Given the description of an element on the screen output the (x, y) to click on. 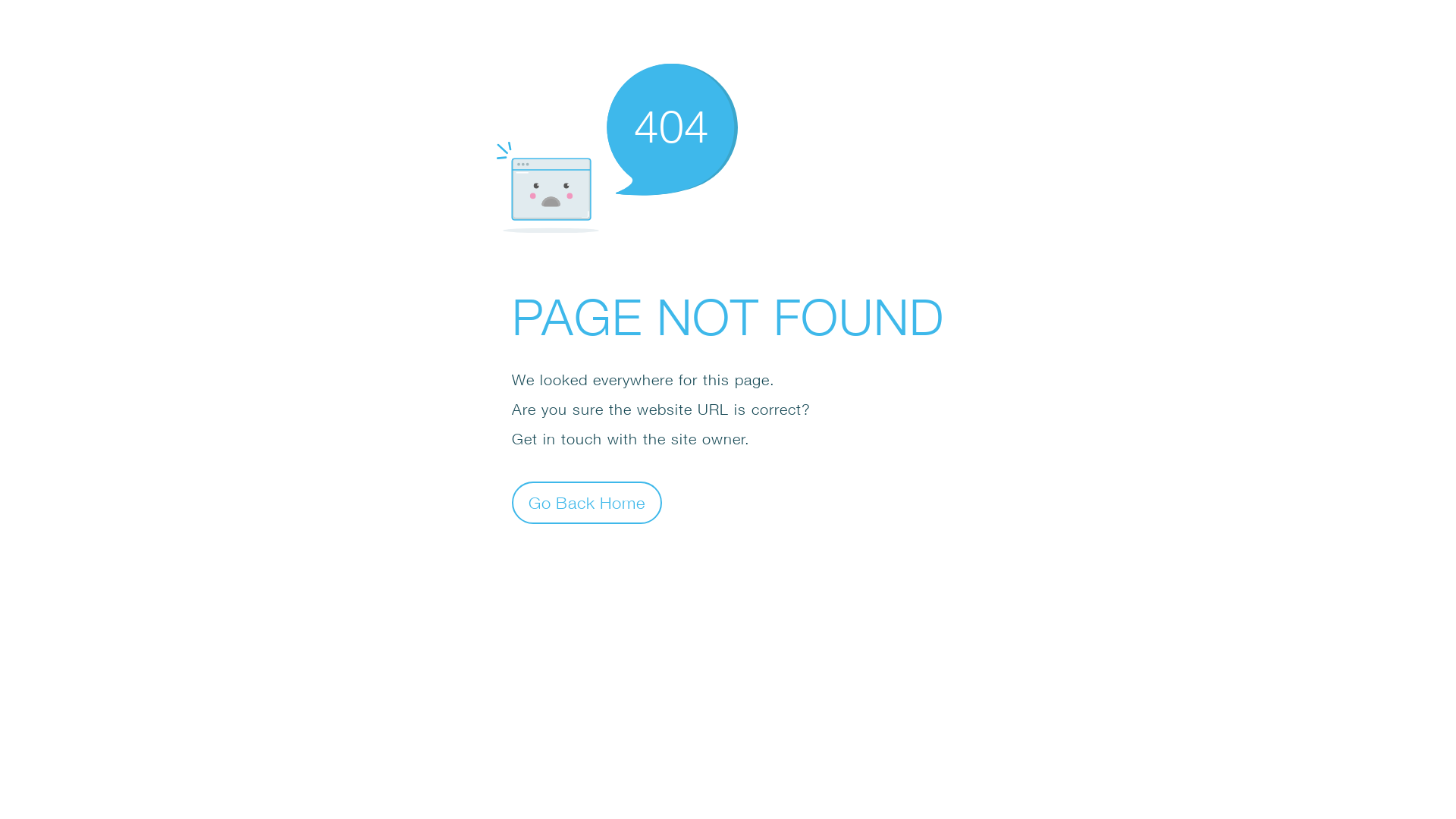
Go Back Home Element type: text (586, 502)
